Given the description of an element on the screen output the (x, y) to click on. 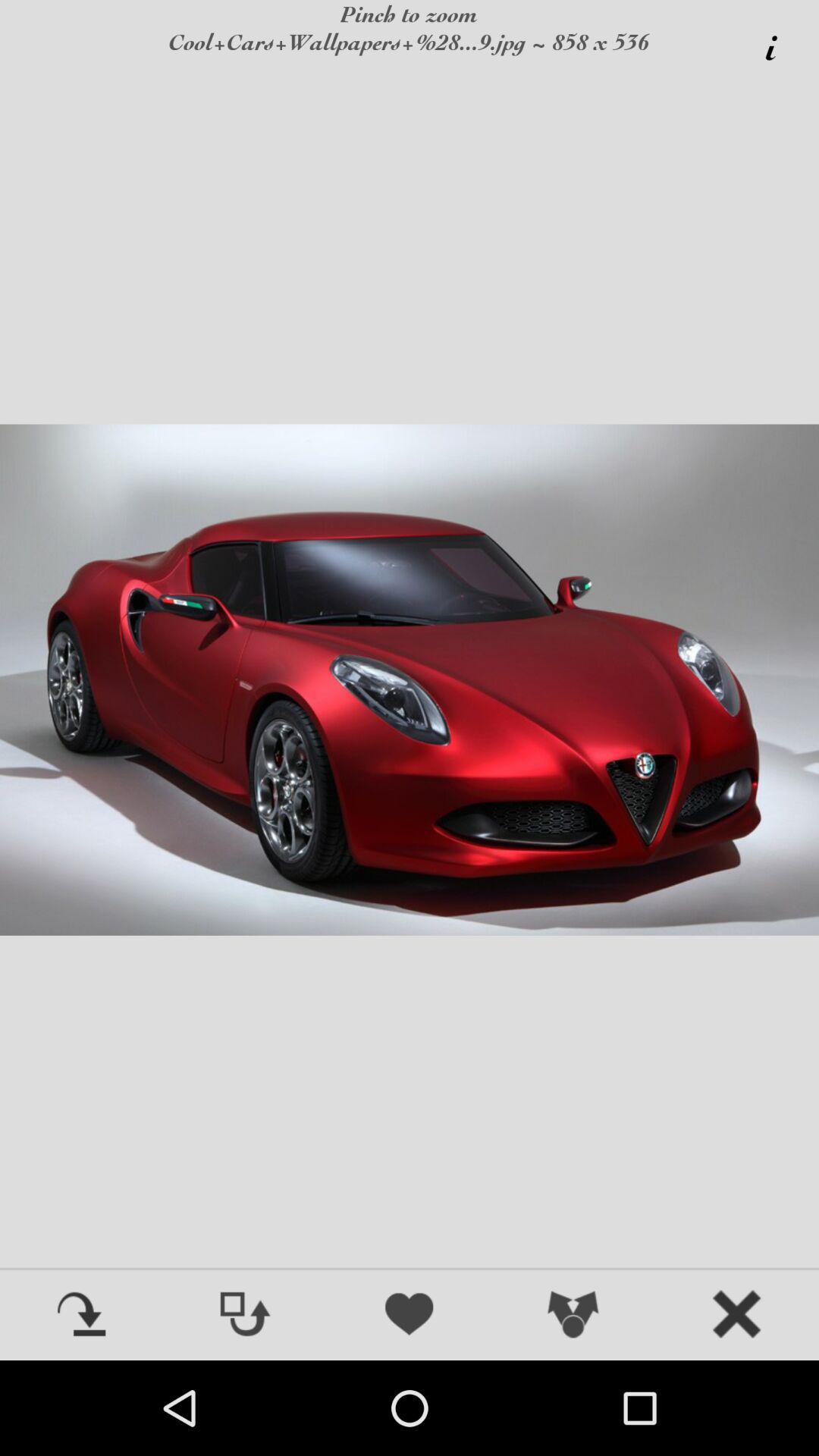
flip image (245, 1315)
